Given the description of an element on the screen output the (x, y) to click on. 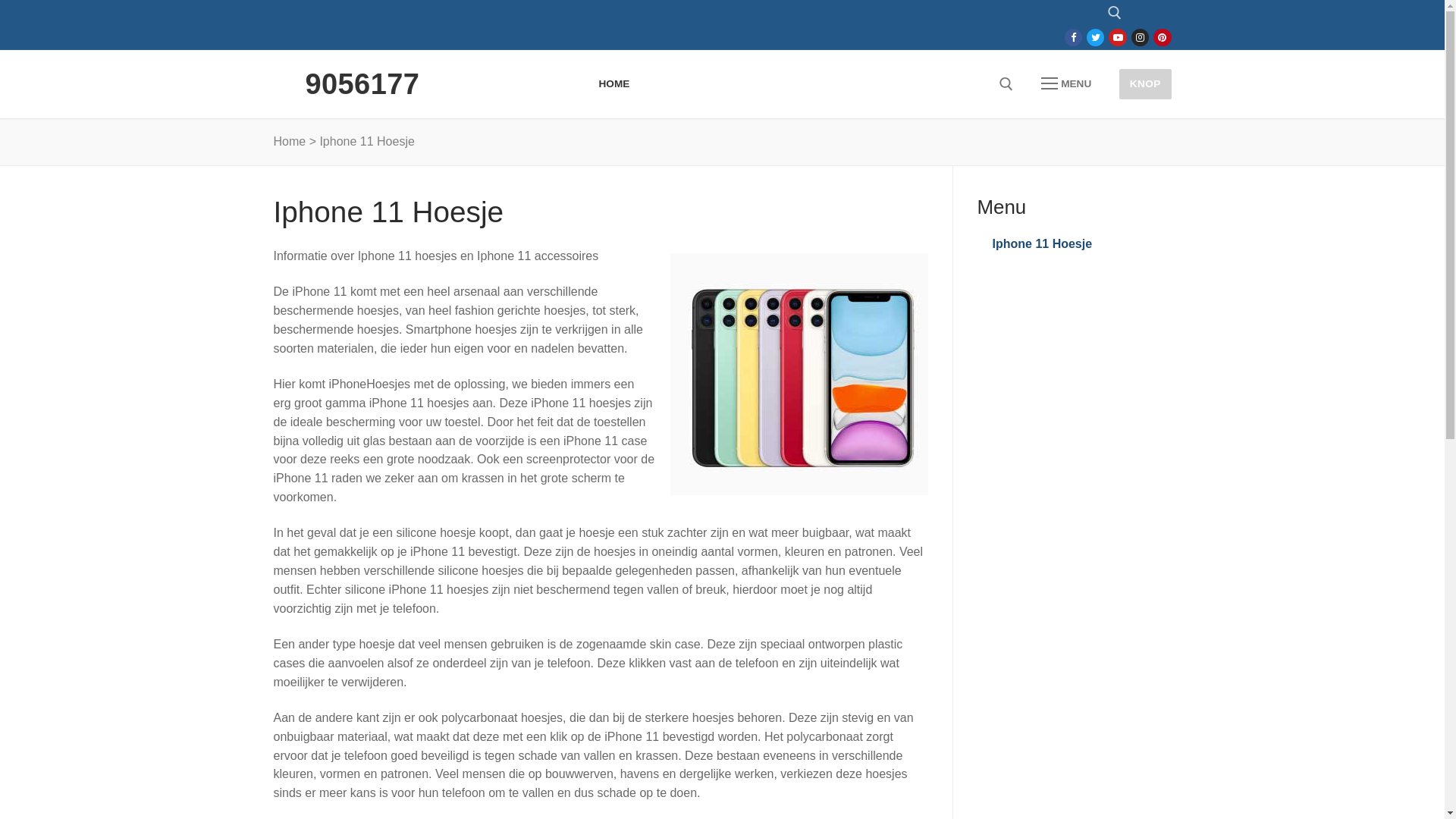
KNOP Element type: text (1144, 83)
Instagram Element type: hover (1140, 37)
Pinterest Element type: hover (1162, 37)
Iphone 11 Hoesje Element type: text (1067, 243)
9056177 Element type: text (361, 83)
HOME Element type: text (613, 83)
Youtube Element type: hover (1118, 37)
Twitter Element type: hover (1095, 37)
Doorgaan naar inhoud Element type: text (0, 0)
MENU Element type: text (1066, 84)
Facebook Element type: hover (1073, 37)
